Given the description of an element on the screen output the (x, y) to click on. 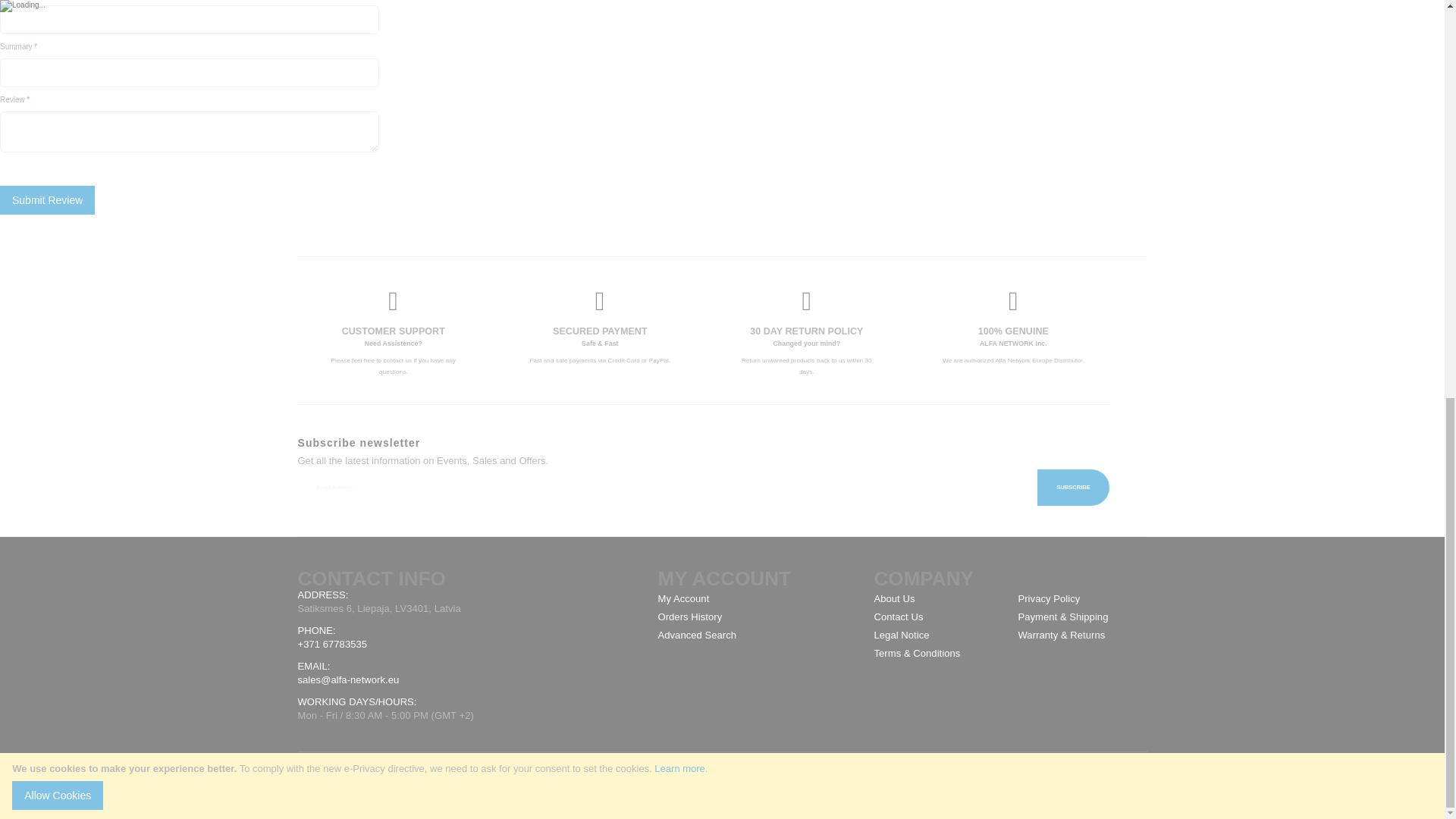
Allow Cookies (57, 21)
